Given the description of an element on the screen output the (x, y) to click on. 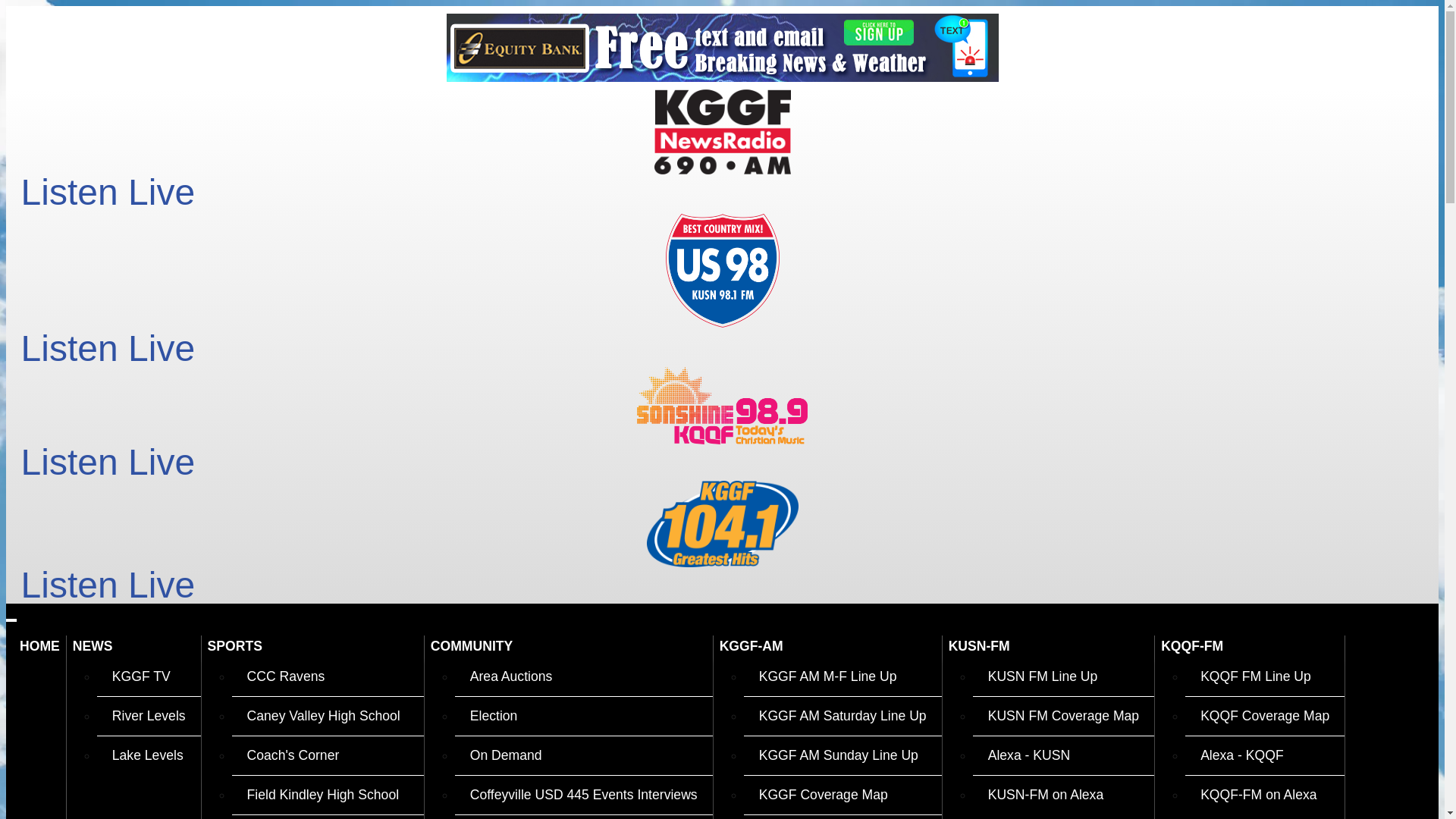
River Levels (148, 715)
Caney Valley High School (327, 715)
NEWS (133, 646)
KGGF TV (148, 676)
CCC Ravens (327, 676)
Coach's Corner (327, 755)
Field Kindley High School (327, 794)
COMMUNITY (569, 646)
Listen Live  (113, 348)
Game of the Week (327, 816)
SPORTS (312, 646)
Listen Live  (113, 462)
Election (583, 715)
Area Auctions (583, 676)
On Demand (583, 755)
